Given the description of an element on the screen output the (x, y) to click on. 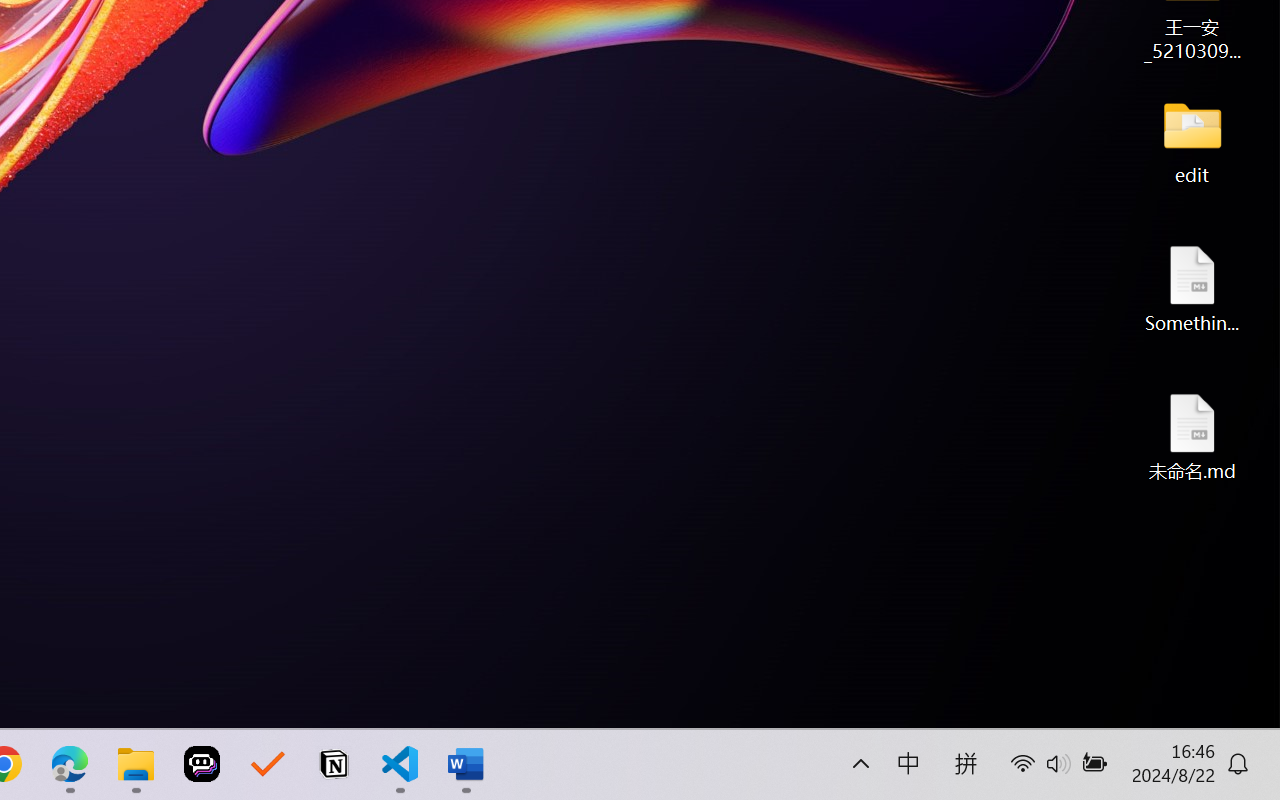
edit (1192, 140)
